Given the description of an element on the screen output the (x, y) to click on. 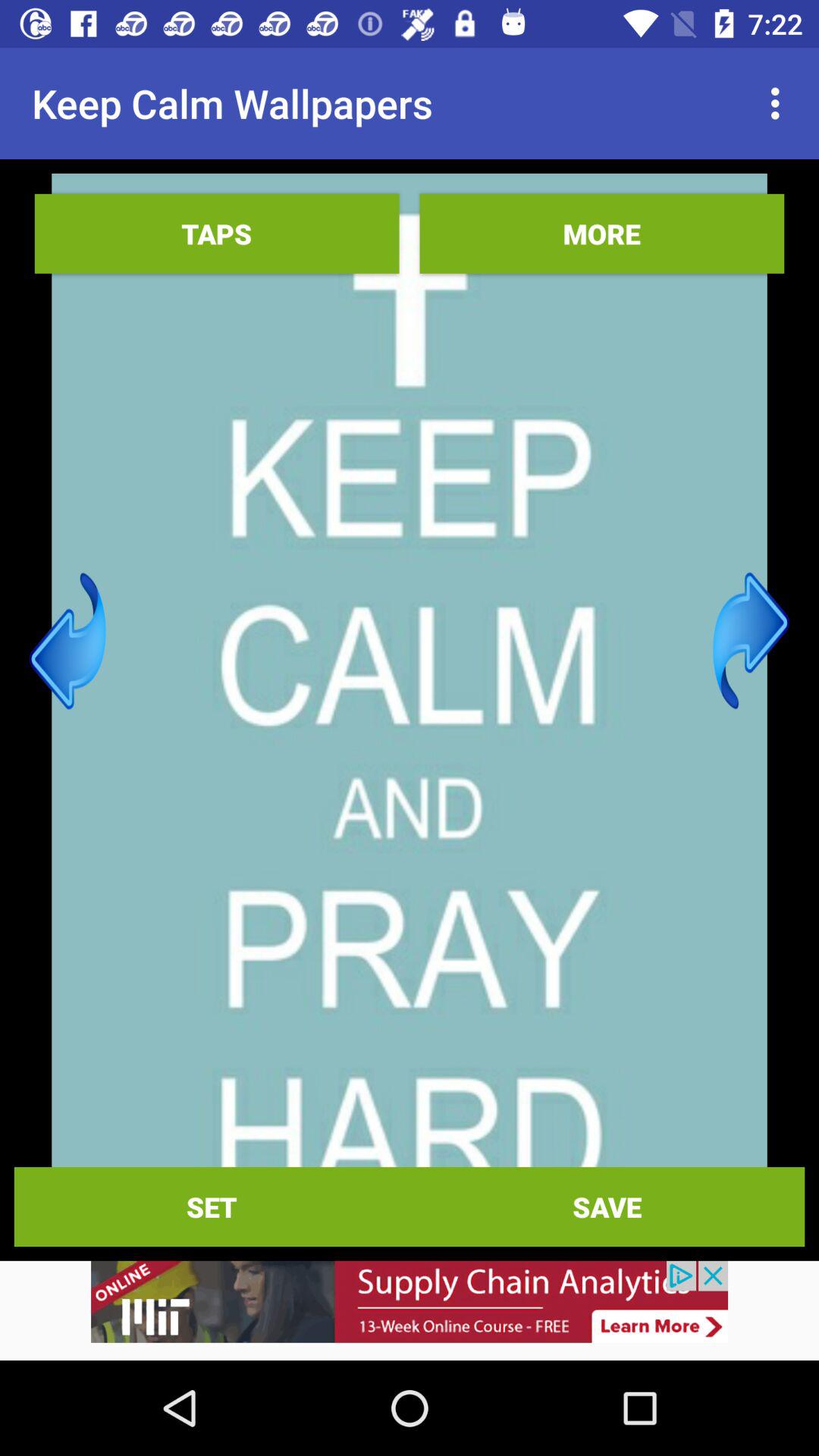
see next wallpaper (750, 640)
